Given the description of an element on the screen output the (x, y) to click on. 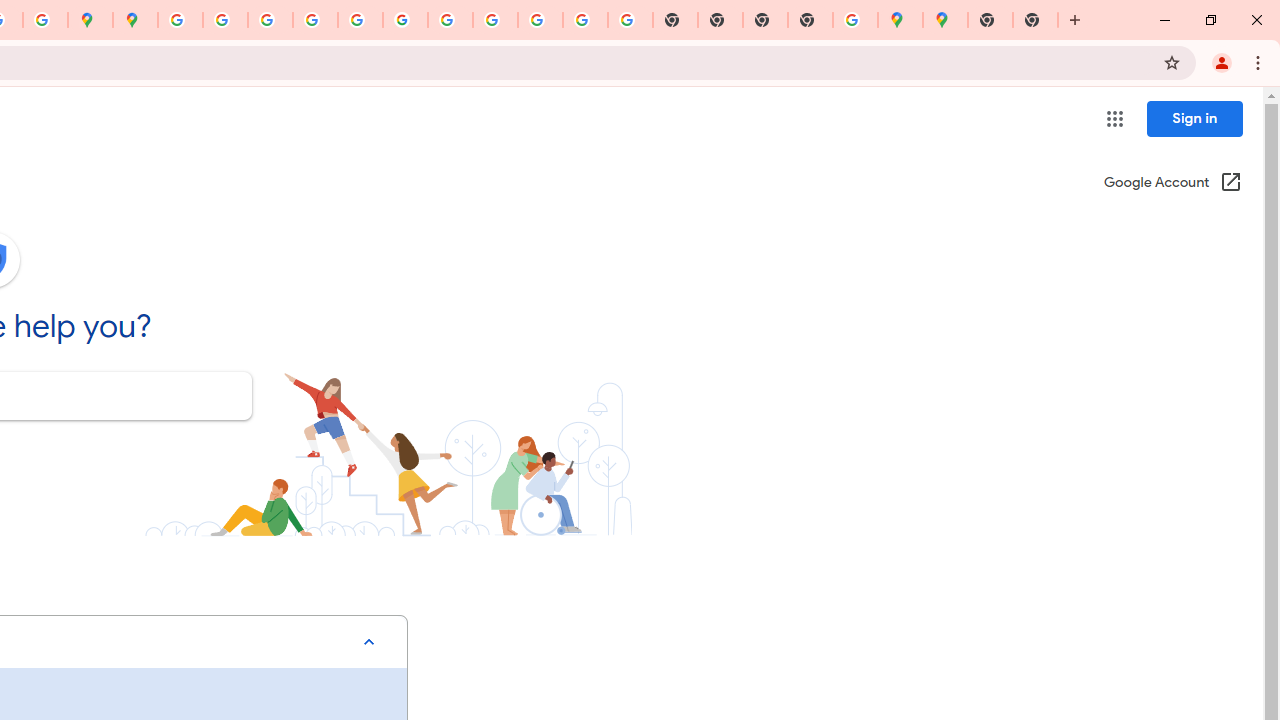
Google Maps (900, 20)
Sign in - Google Accounts (180, 20)
Google Account (Open in a new window) (1172, 183)
New Tab (1035, 20)
Use Google Maps in Space - Google Maps Help (855, 20)
New Tab (989, 20)
Privacy Help Center - Policies Help (270, 20)
Google Maps (944, 20)
